Given the description of an element on the screen output the (x, y) to click on. 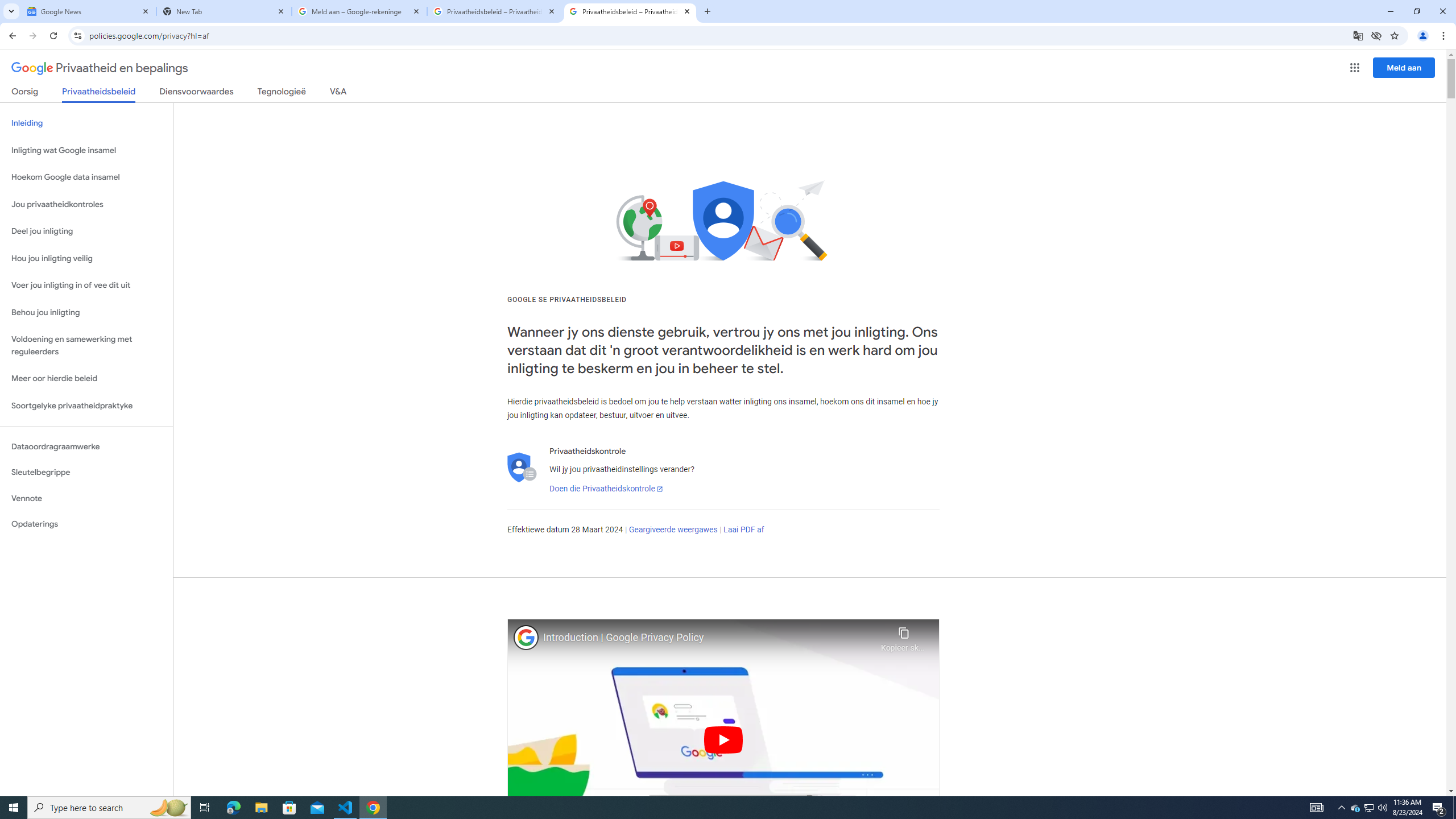
You (1422, 35)
V&A (337, 93)
Privaatheidsbeleid (98, 94)
Voer jou inligting in of vee dit uit (86, 284)
Minimize (1390, 11)
Chrome (1445, 35)
Forward (32, 35)
Soortgelyke privaatheidpraktyke (86, 405)
Behou jou inligting (86, 312)
